Given the description of an element on the screen output the (x, y) to click on. 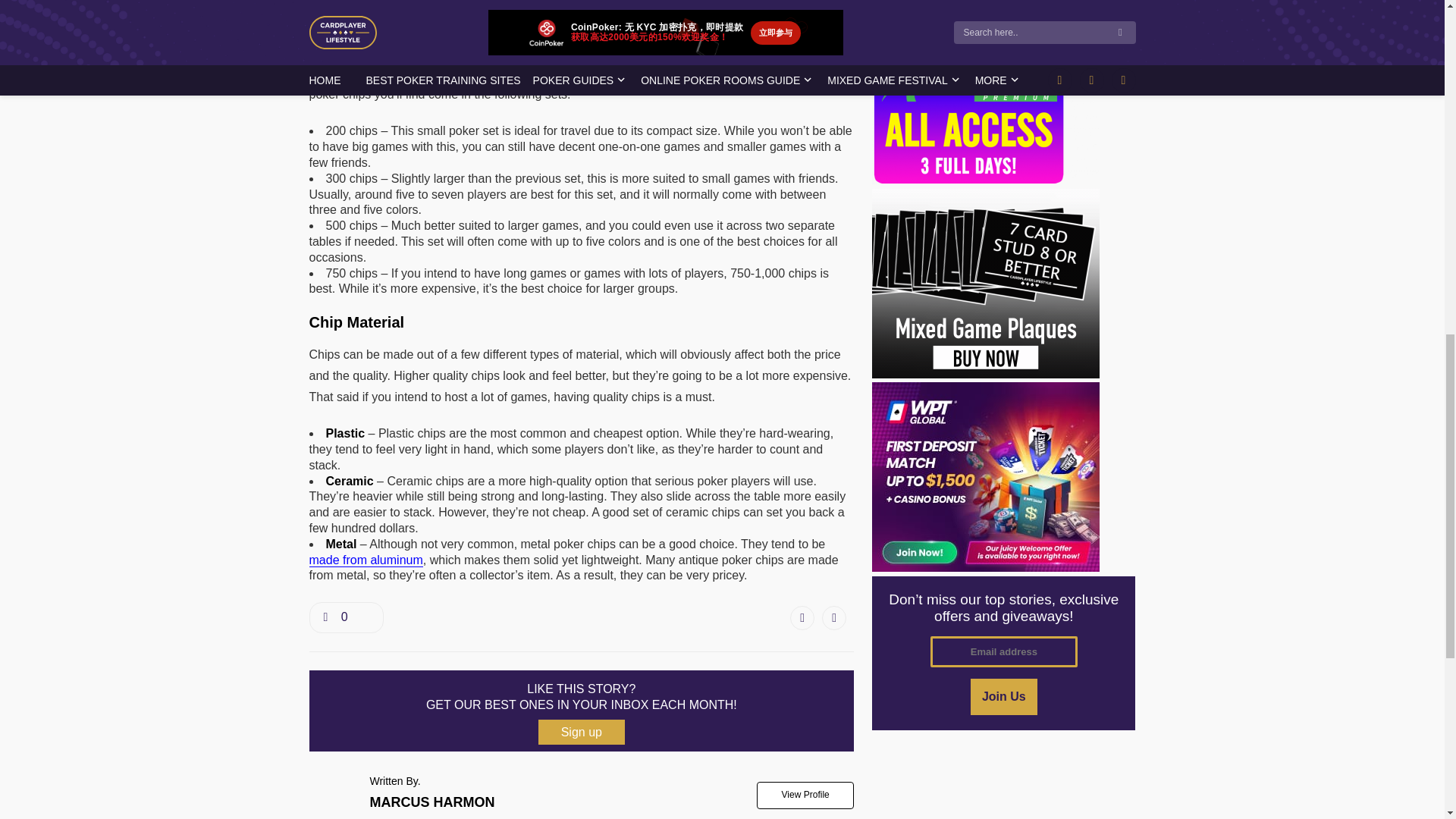
made from aluminum (365, 560)
Join Us (1003, 696)
plan your event carefully (511, 73)
